Given the description of an element on the screen output the (x, y) to click on. 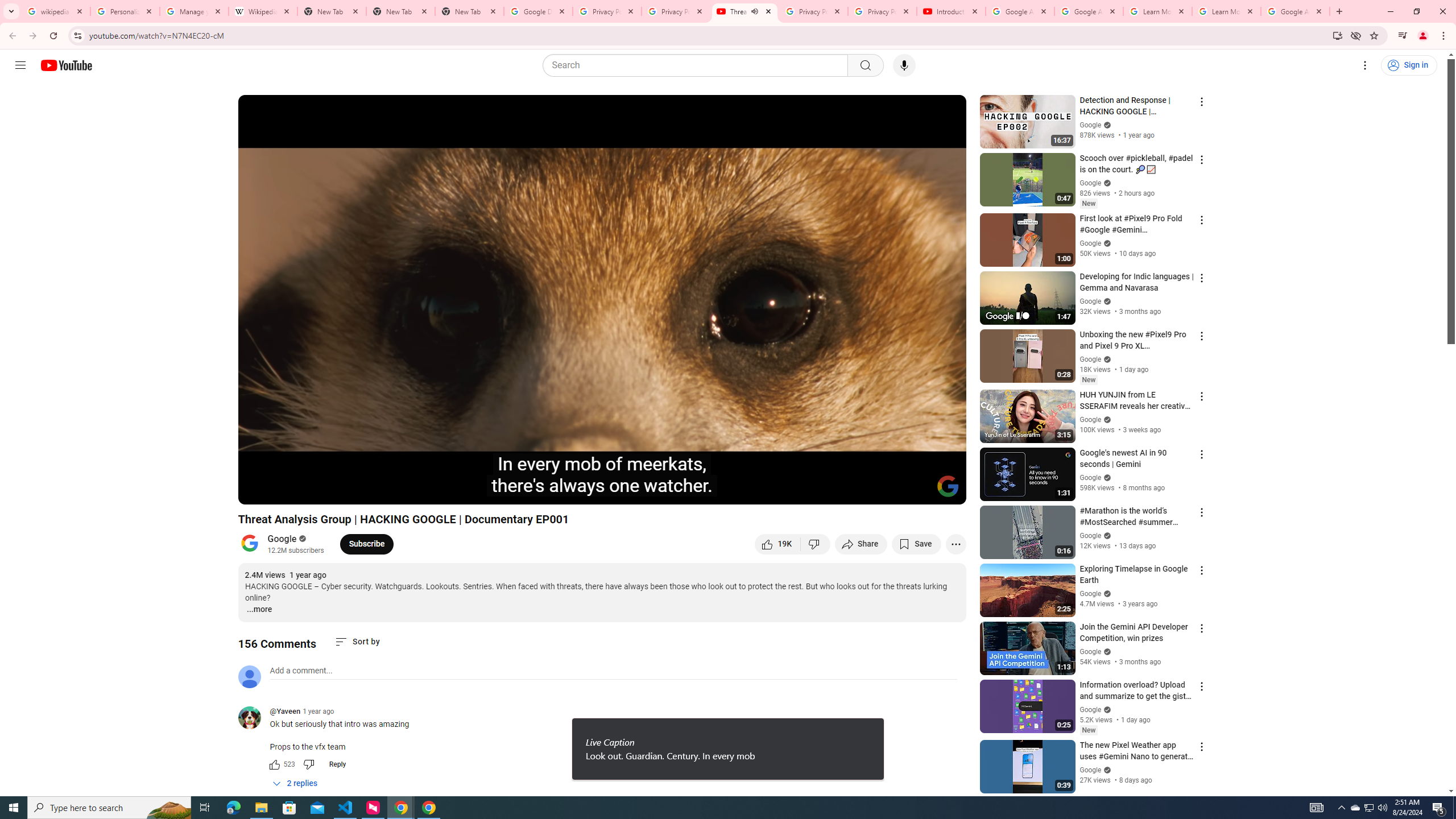
Autoplay is on (808, 490)
Miniplayer (i) (890, 490)
Pause (k) (257, 490)
YouTube Home (66, 65)
